Given the description of an element on the screen output the (x, y) to click on. 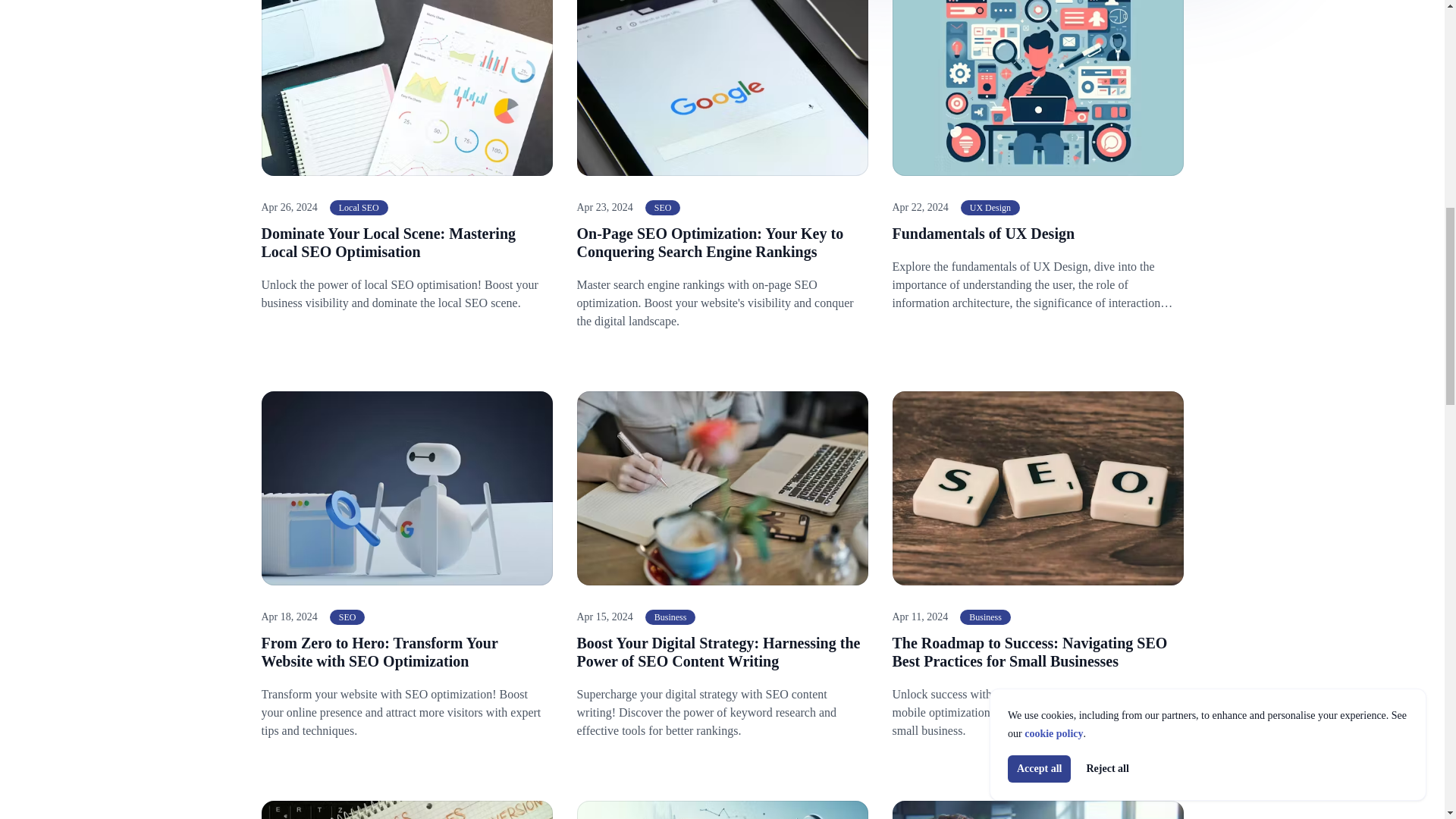
UX Design (990, 207)
Dominate Your Local Scene: Mastering Local SEO Optimisation (387, 242)
Business (670, 616)
SEO (347, 616)
Business (984, 616)
Local SEO (359, 207)
SEO (663, 207)
